Given the description of an element on the screen output the (x, y) to click on. 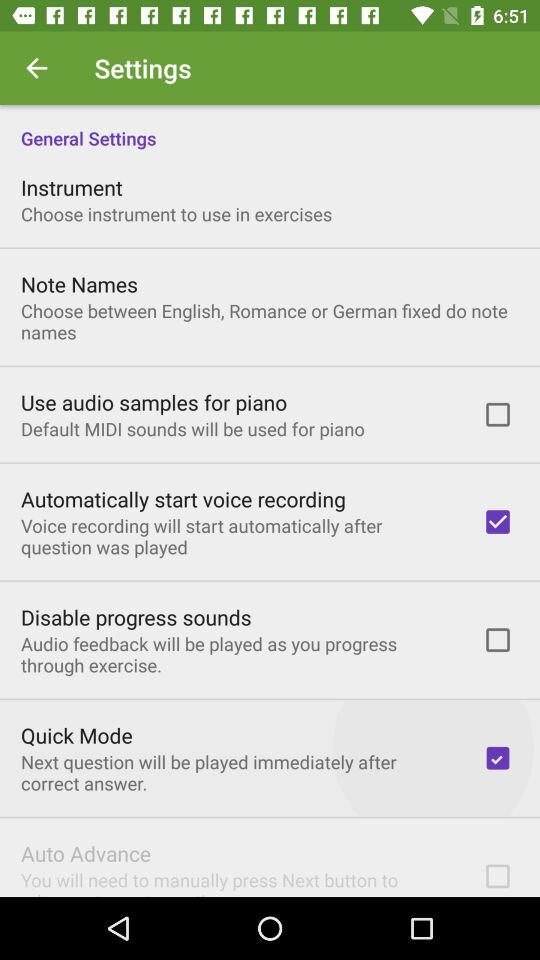
turn off icon above quick mode icon (238, 654)
